Given the description of an element on the screen output the (x, y) to click on. 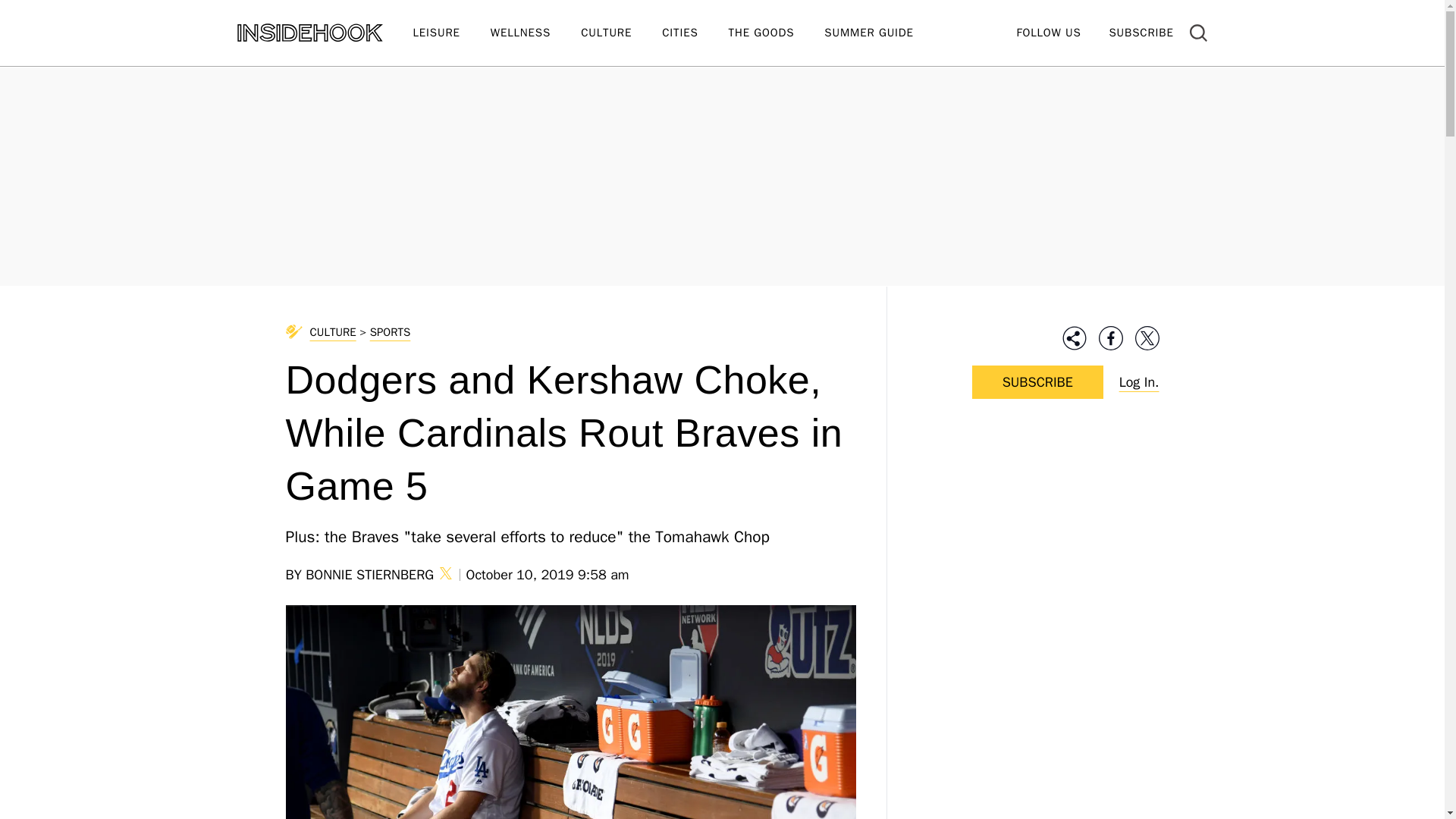
THE GOODS (777, 32)
WELLNESS (535, 32)
SUMMER GUIDE (883, 32)
CULTURE (621, 32)
CITIES (695, 32)
LEISURE (450, 32)
SUBSCRIBE (1140, 32)
FOLLOW US (1048, 32)
